Given the description of an element on the screen output the (x, y) to click on. 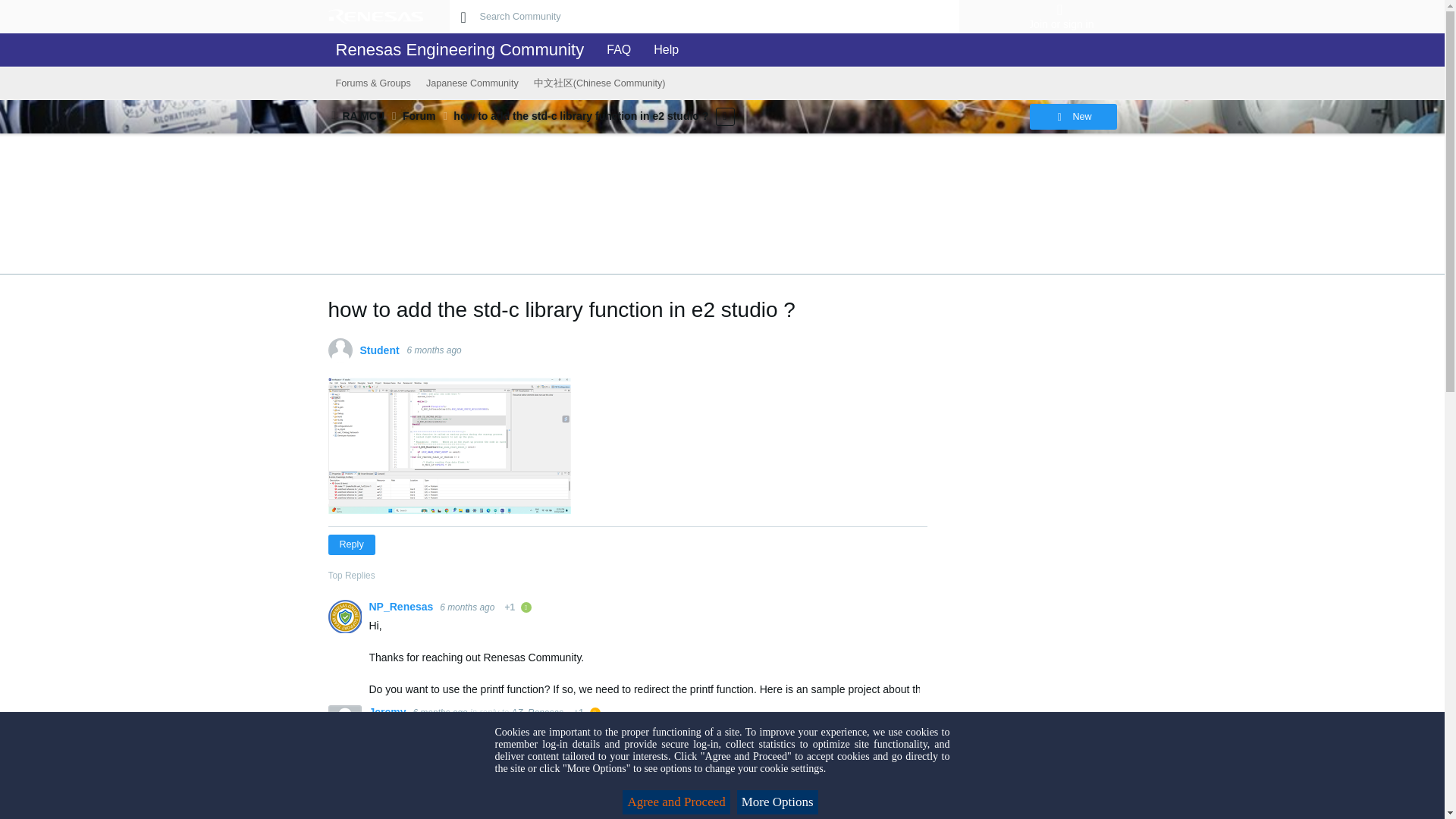
Help (662, 49)
New (1072, 116)
More Options (777, 802)
More (725, 116)
Up to Microcontrollers (333, 116)
Join or sign in (1060, 24)
FAQ (615, 49)
Agree and Proceed (676, 802)
how to add the std-c library function in e2 studio ? (579, 115)
Renesas Engineering Community (459, 49)
More (333, 116)
Forum (419, 115)
User (1059, 9)
RA MCU (363, 115)
Join or sign in (1059, 9)
